Given the description of an element on the screen output the (x, y) to click on. 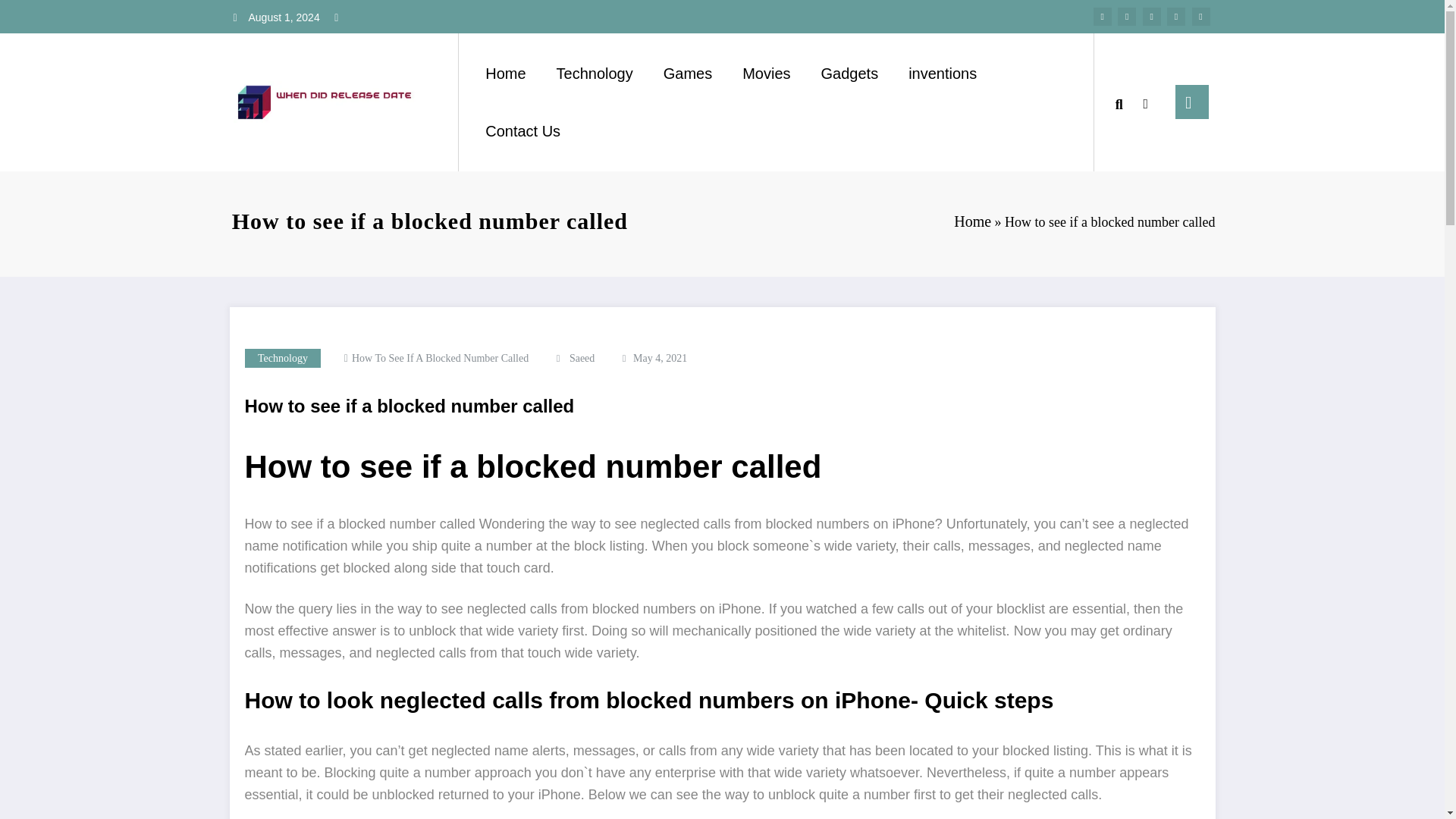
Gadgets (849, 73)
Technology (282, 357)
May 4, 2021 (660, 357)
twitter (1126, 16)
Home (972, 221)
Contact Us (522, 131)
Technology (282, 357)
How To See If A Blocked Number Called (440, 357)
youtube (1200, 16)
Games (686, 73)
inventions (942, 73)
Movies (765, 73)
Home (505, 73)
Saeed (581, 357)
facebook-f (1102, 16)
